Given the description of an element on the screen output the (x, y) to click on. 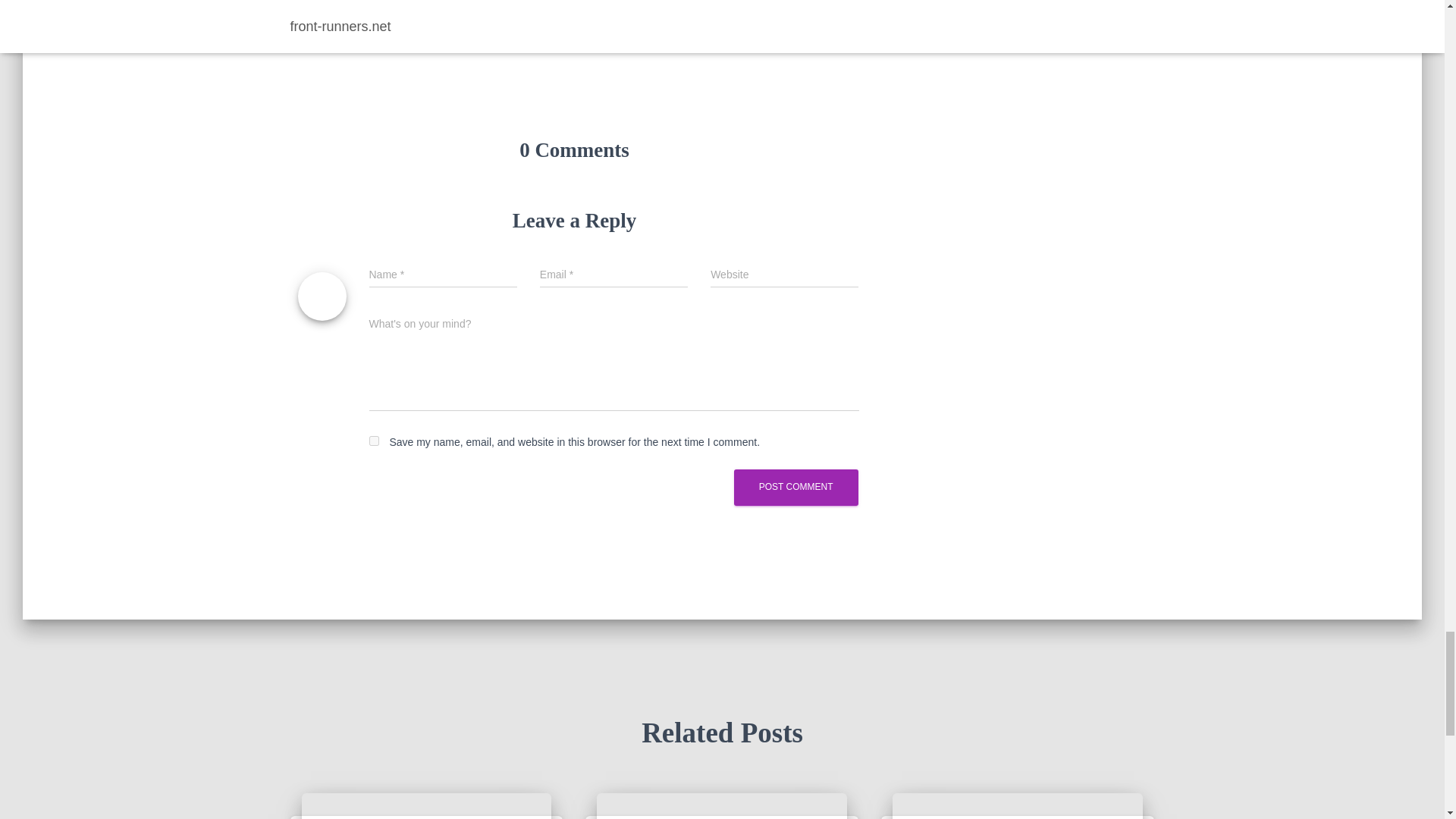
shelby mustang 2014 (721, 806)
Post Comment (796, 487)
Vehicle Replicas (333, 21)
shelby cobra keychain (426, 806)
yes (373, 440)
Post Comment (796, 487)
